Given the description of an element on the screen output the (x, y) to click on. 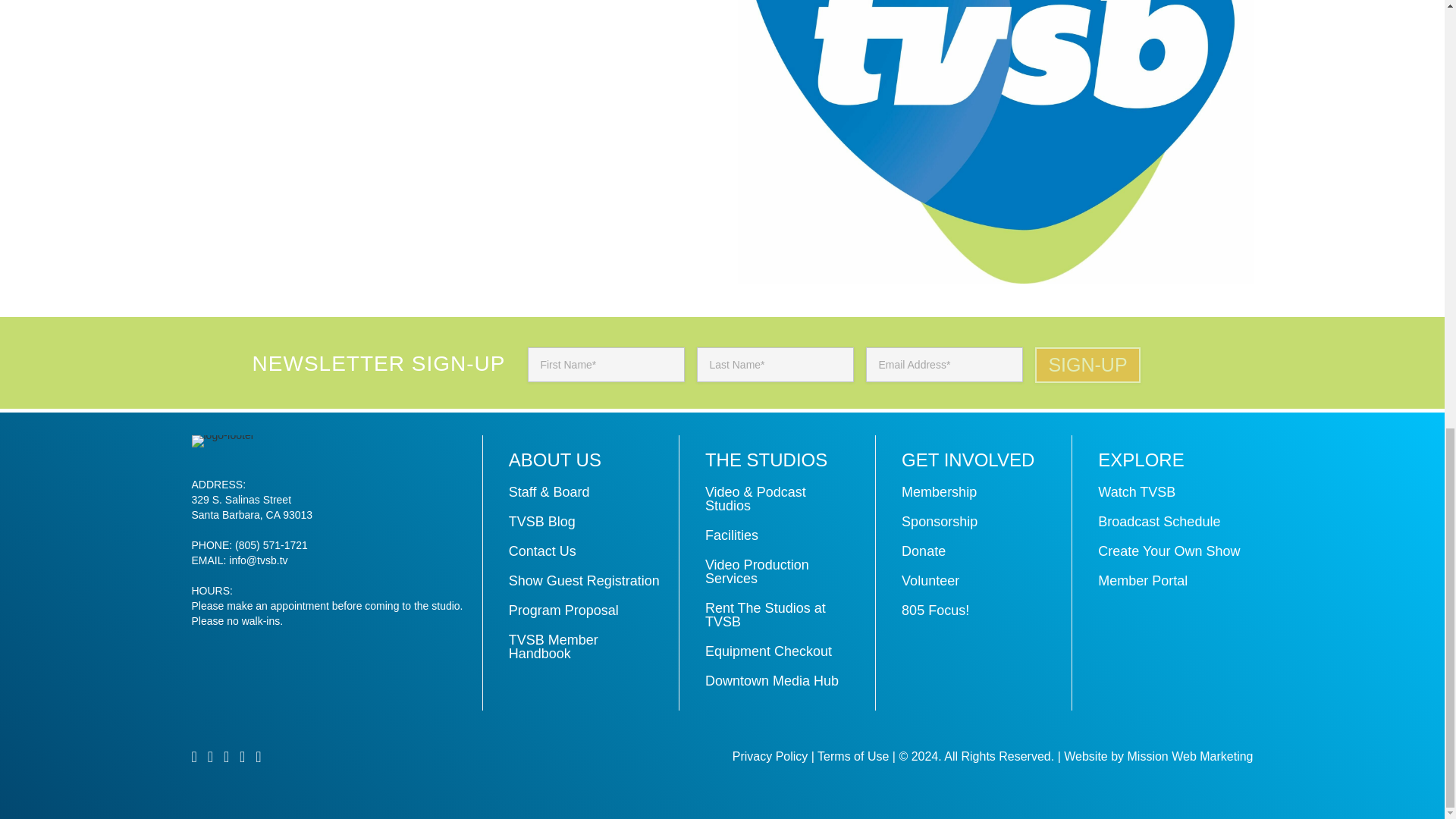
Sign-Up (1087, 365)
The Studios (765, 459)
Sign-Up (1087, 365)
Get Involved (967, 459)
logo-footer (221, 440)
About Us (554, 459)
Explore (1140, 459)
